Given the description of an element on the screen output the (x, y) to click on. 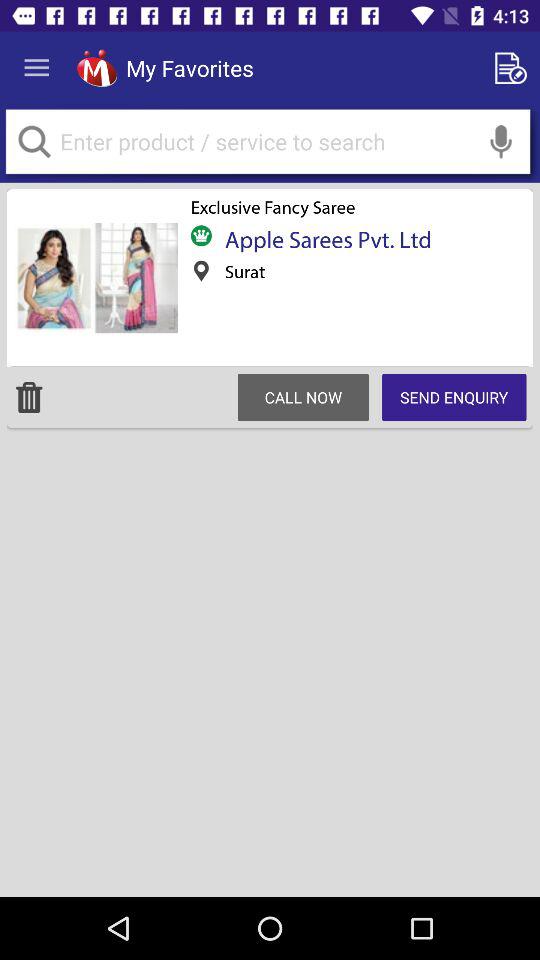
search option (501, 141)
